Given the description of an element on the screen output the (x, y) to click on. 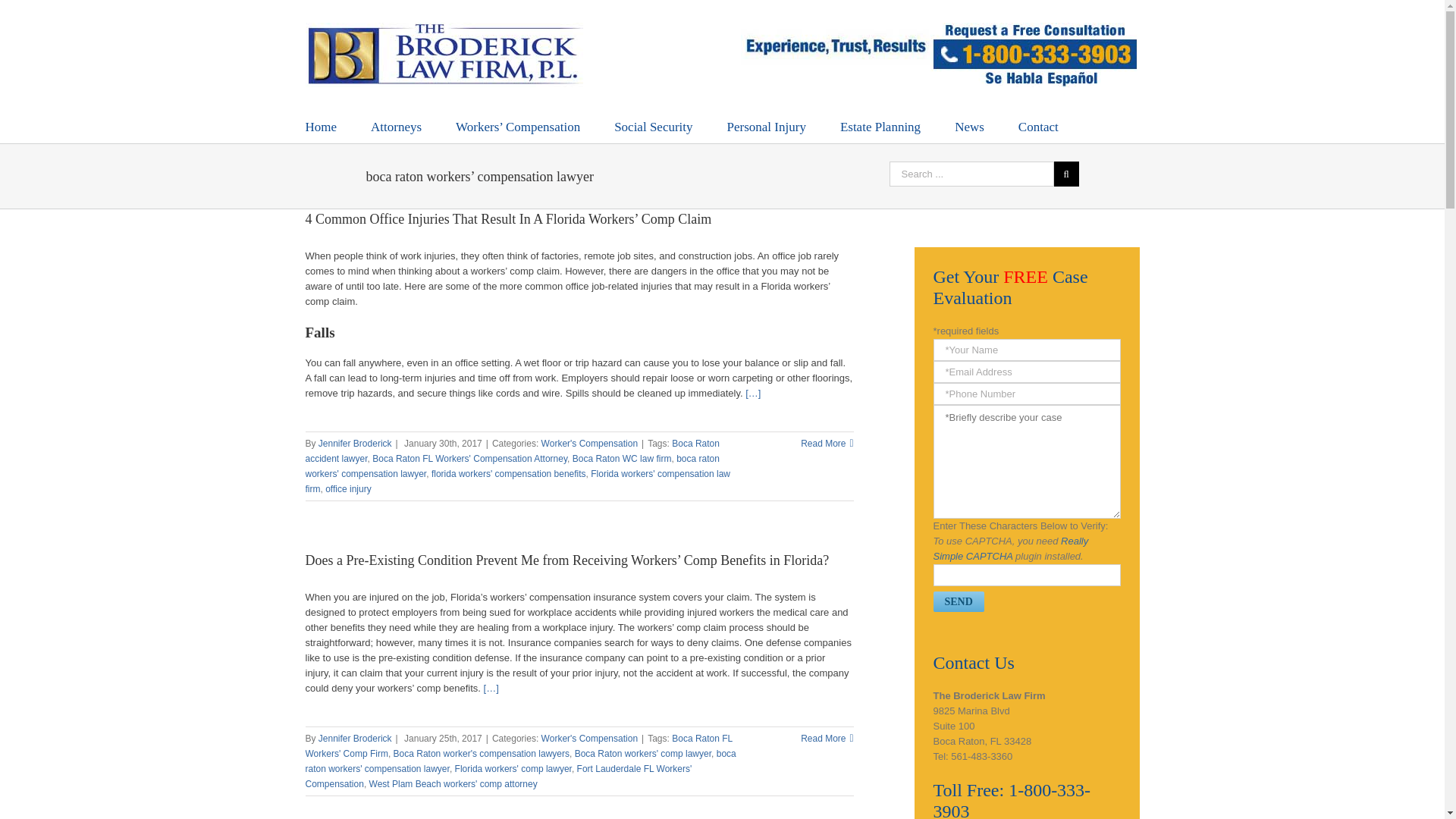
Social Security (653, 126)
Estate Planning (880, 126)
Posts by Jennifer Broderick (354, 443)
Posts by Jennifer Broderick (354, 738)
Home (320, 126)
Attorneys (396, 126)
Contact (1037, 126)
Send (958, 601)
Personal Injury (766, 126)
News (969, 126)
